Given the description of an element on the screen output the (x, y) to click on. 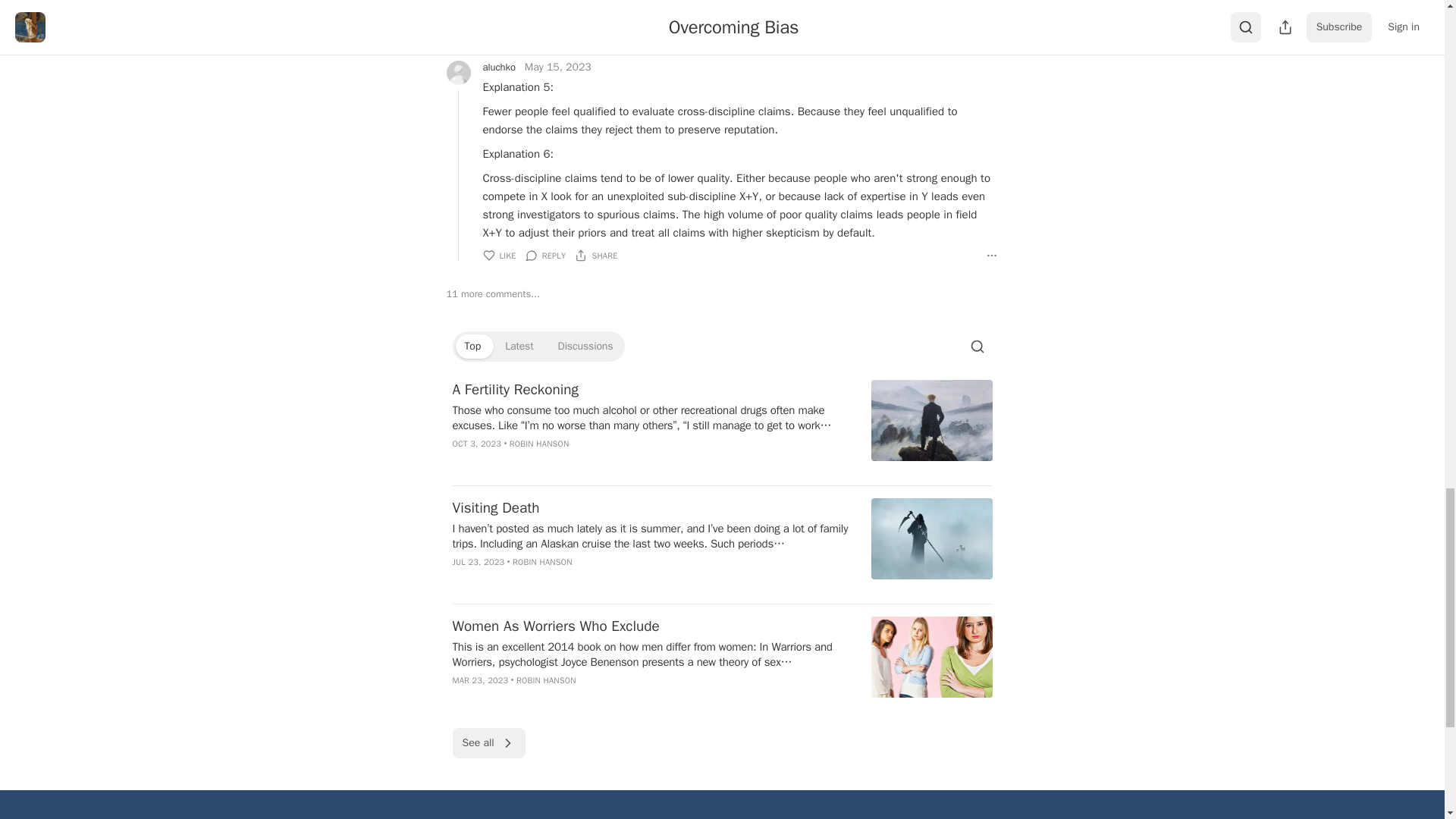
SHARE (596, 37)
LIKE (498, 37)
REPLY (545, 37)
